Given the description of an element on the screen output the (x, y) to click on. 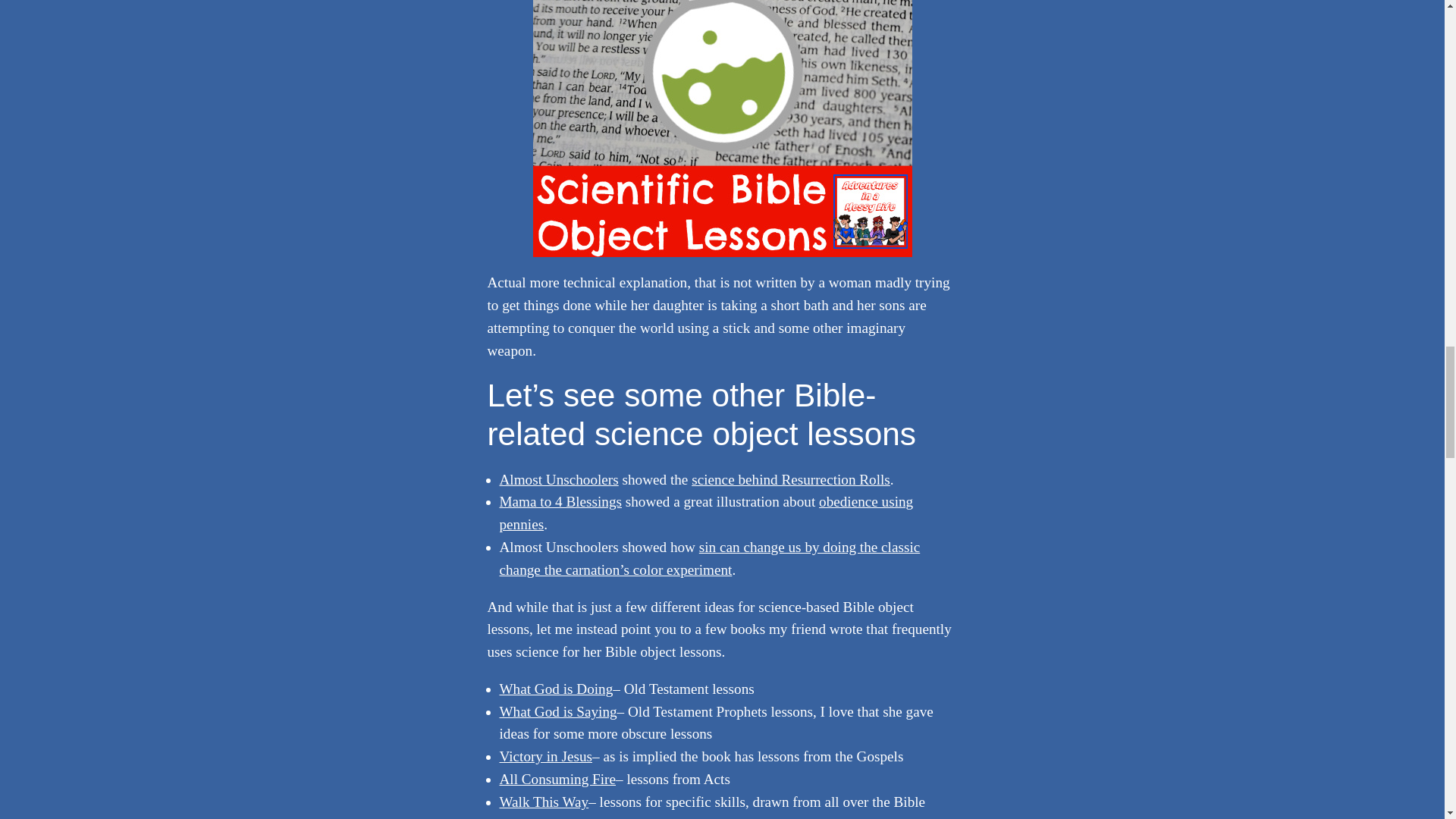
What God is Saying (557, 711)
science behind Resurrection Rolls (790, 479)
Victory in Jesus (545, 756)
Almost Unschoolers (558, 479)
What God is Doing (555, 688)
obedience using pennies (705, 512)
Mama to 4 Blessings (560, 501)
